Given the description of an element on the screen output the (x, y) to click on. 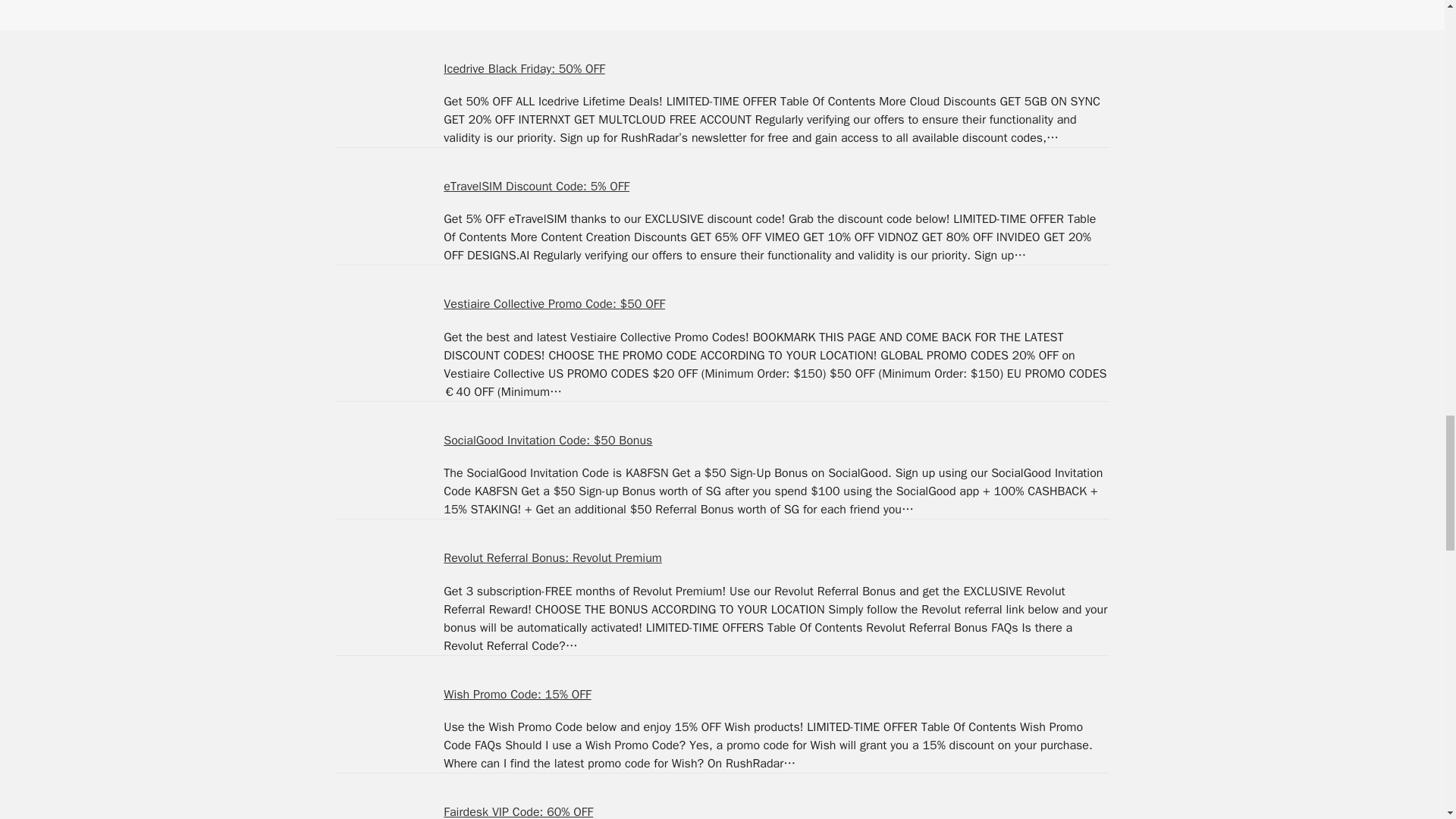
Revolut Referral Bonus: Revolut Premium (373, 587)
Revolut Referral Bonus: Revolut Premium (553, 557)
